Given the description of an element on the screen output the (x, y) to click on. 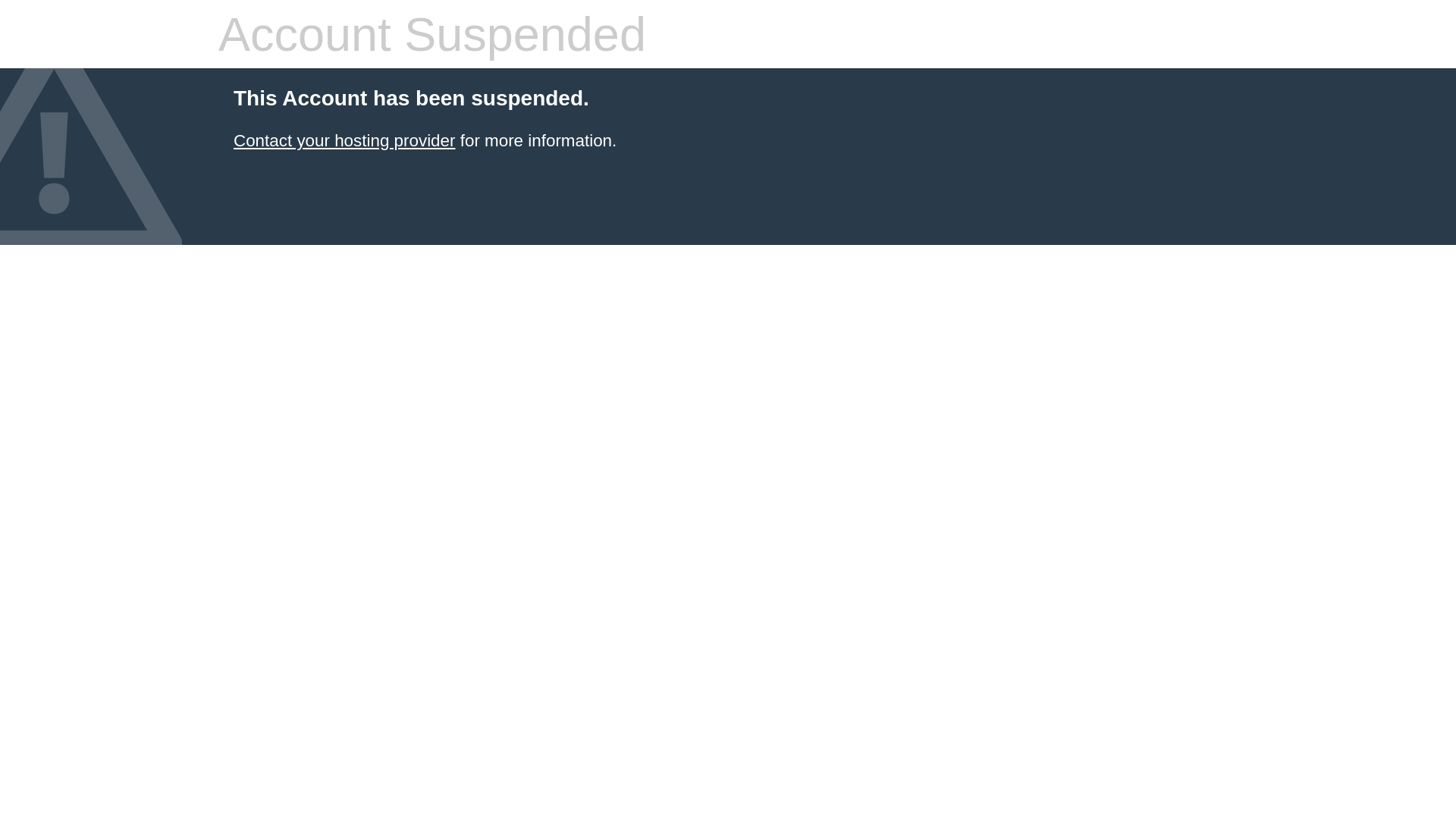
Contact your hosting provider Element type: text (344, 140)
